Given the description of an element on the screen output the (x, y) to click on. 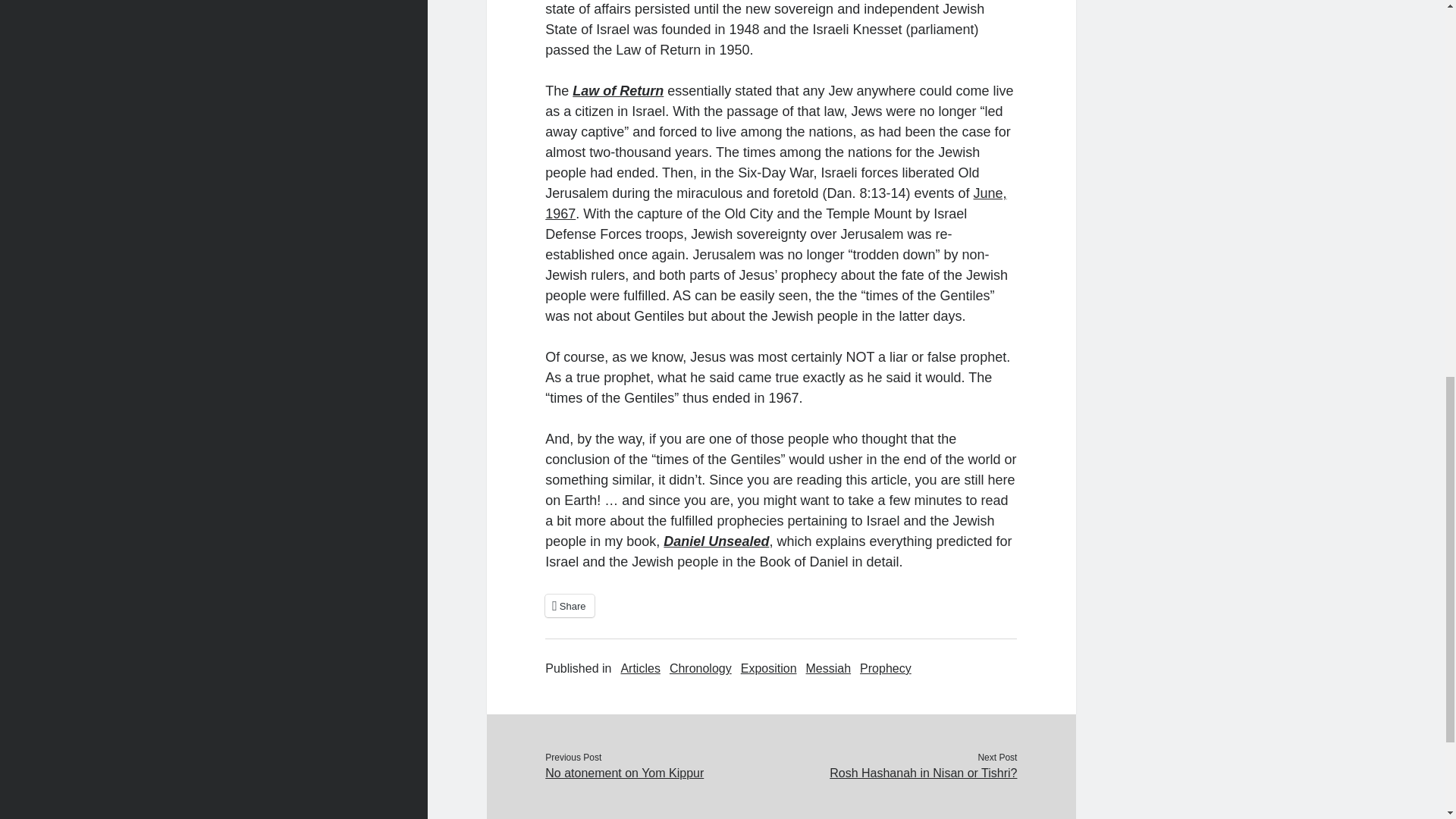
Chronology (700, 669)
View all posts in Chronology (700, 669)
Read about the Law of Return (617, 90)
PDF File - Liberation of Jerusalem 1967 (775, 203)
View all posts in Prophecy (885, 669)
Daniel Unsealed (715, 540)
View all posts in Messiah (828, 669)
View all posts in Exposition (768, 669)
Share (569, 605)
View all posts in Articles (639, 669)
Exposition (768, 669)
June, 1967 (775, 203)
Articles (639, 669)
Law of Return (617, 90)
